Given the description of an element on the screen output the (x, y) to click on. 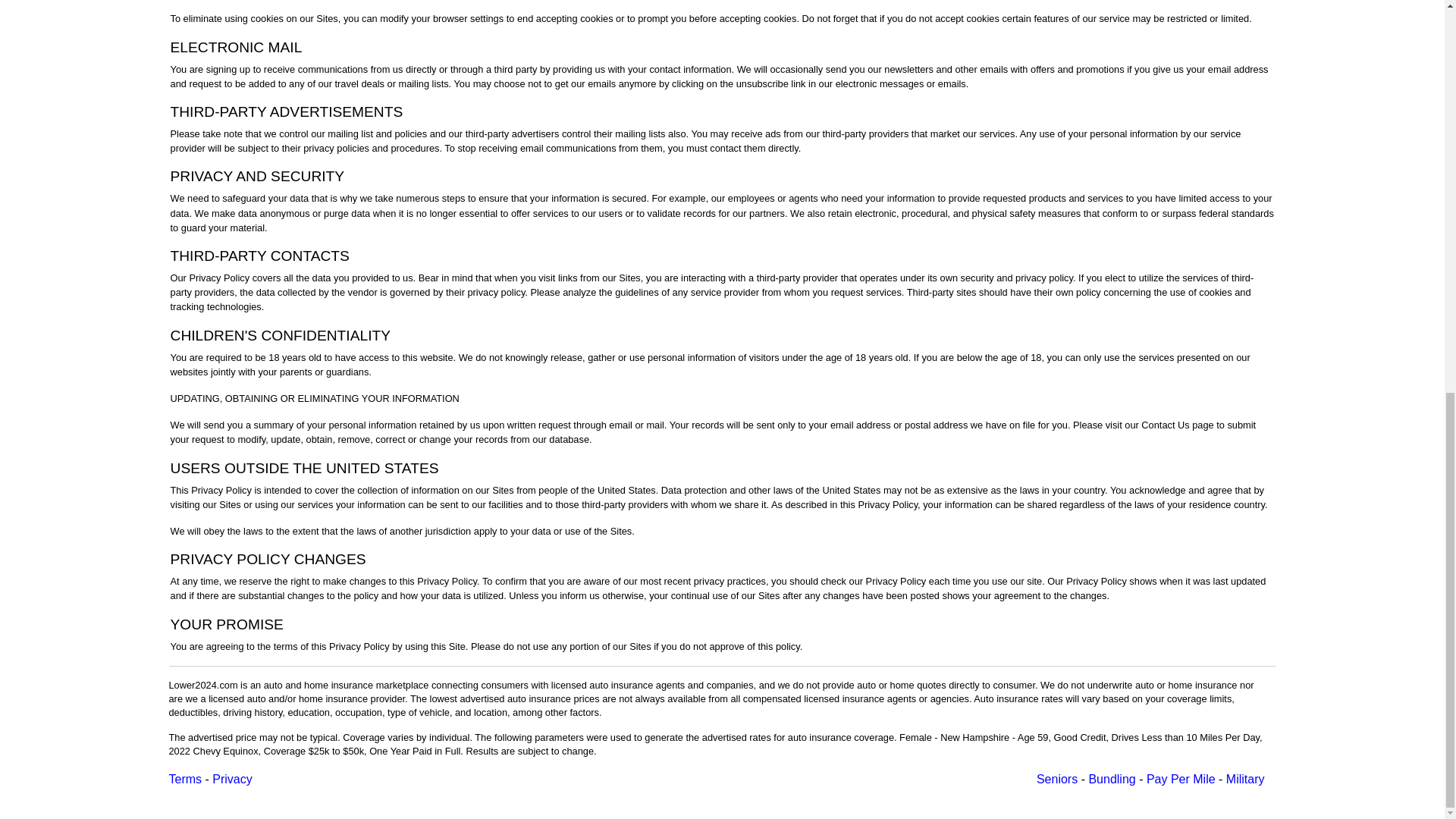
Privacy (231, 779)
Bundling (1111, 779)
Seniors (1056, 779)
Terms (185, 779)
Pay Per Mile (1181, 779)
Military (1245, 779)
